Given the description of an element on the screen output the (x, y) to click on. 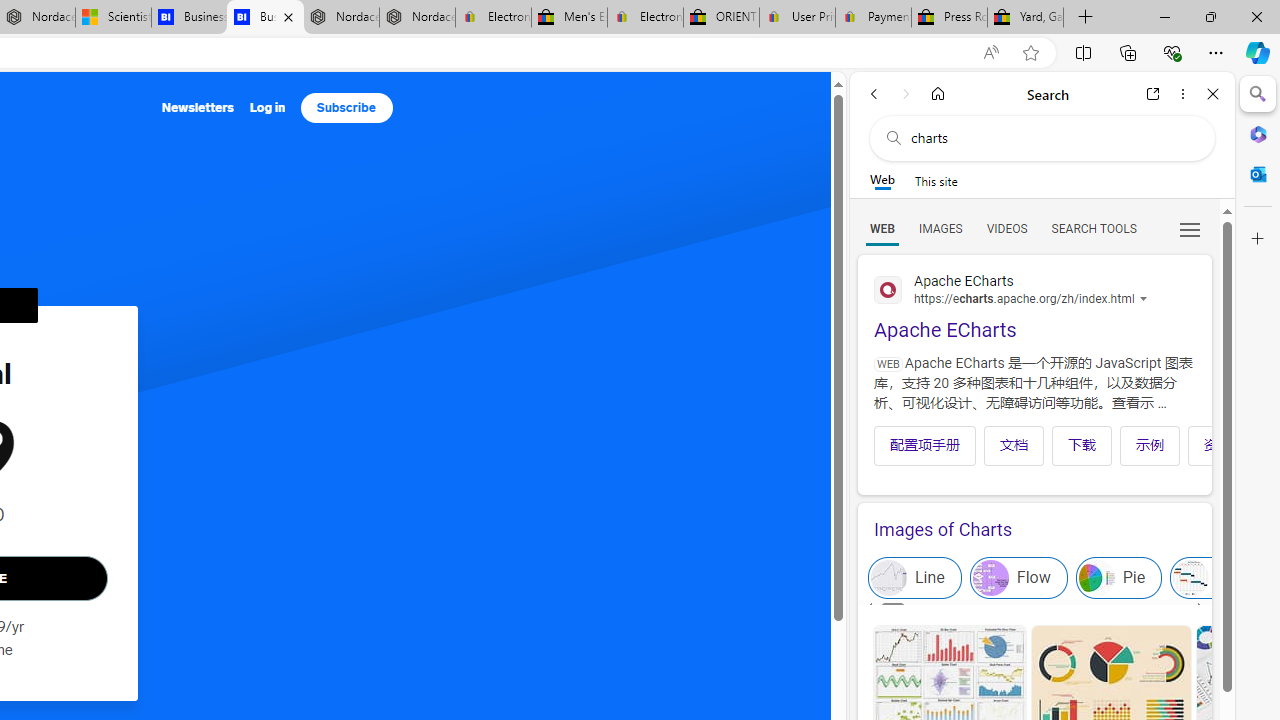
Log in (267, 107)
Actions for this site (1146, 299)
Payments Terms of Use | eBay.com (873, 17)
Open link in new tab (1153, 93)
Search Filter, WEB (882, 228)
Images of Charts (1034, 530)
Press Room - eBay Inc. (948, 17)
WEB   (882, 228)
